Given the description of an element on the screen output the (x, y) to click on. 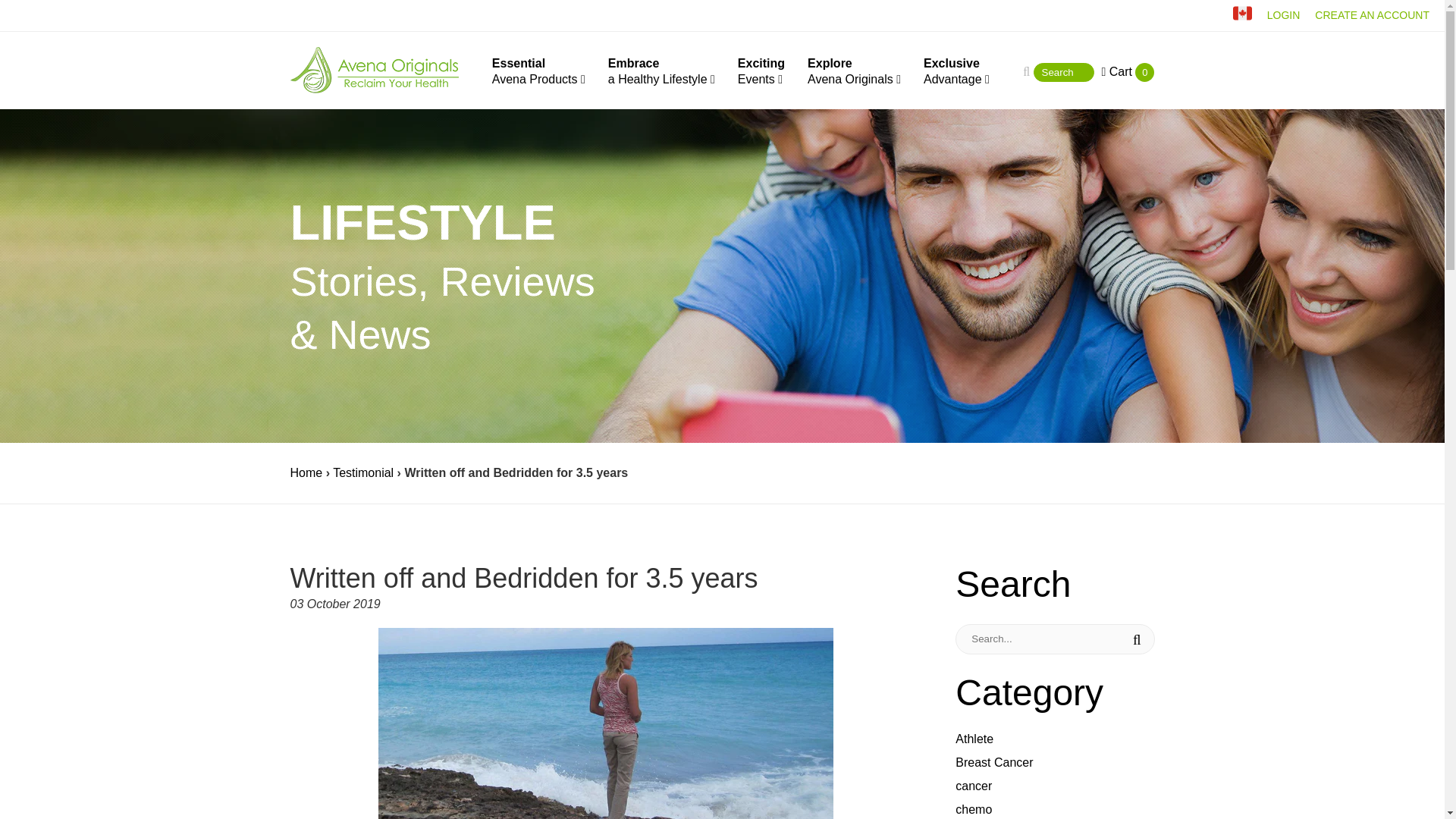
Back to the home page (305, 472)
Show products matching tag Breast Cancer (993, 762)
LOGIN (956, 70)
Show products matching tag Athlete (1283, 15)
Show products matching tag chemo (854, 70)
CREATE AN ACCOUNT (761, 70)
Show products matching tag cancer (973, 738)
